Given the description of an element on the screen output the (x, y) to click on. 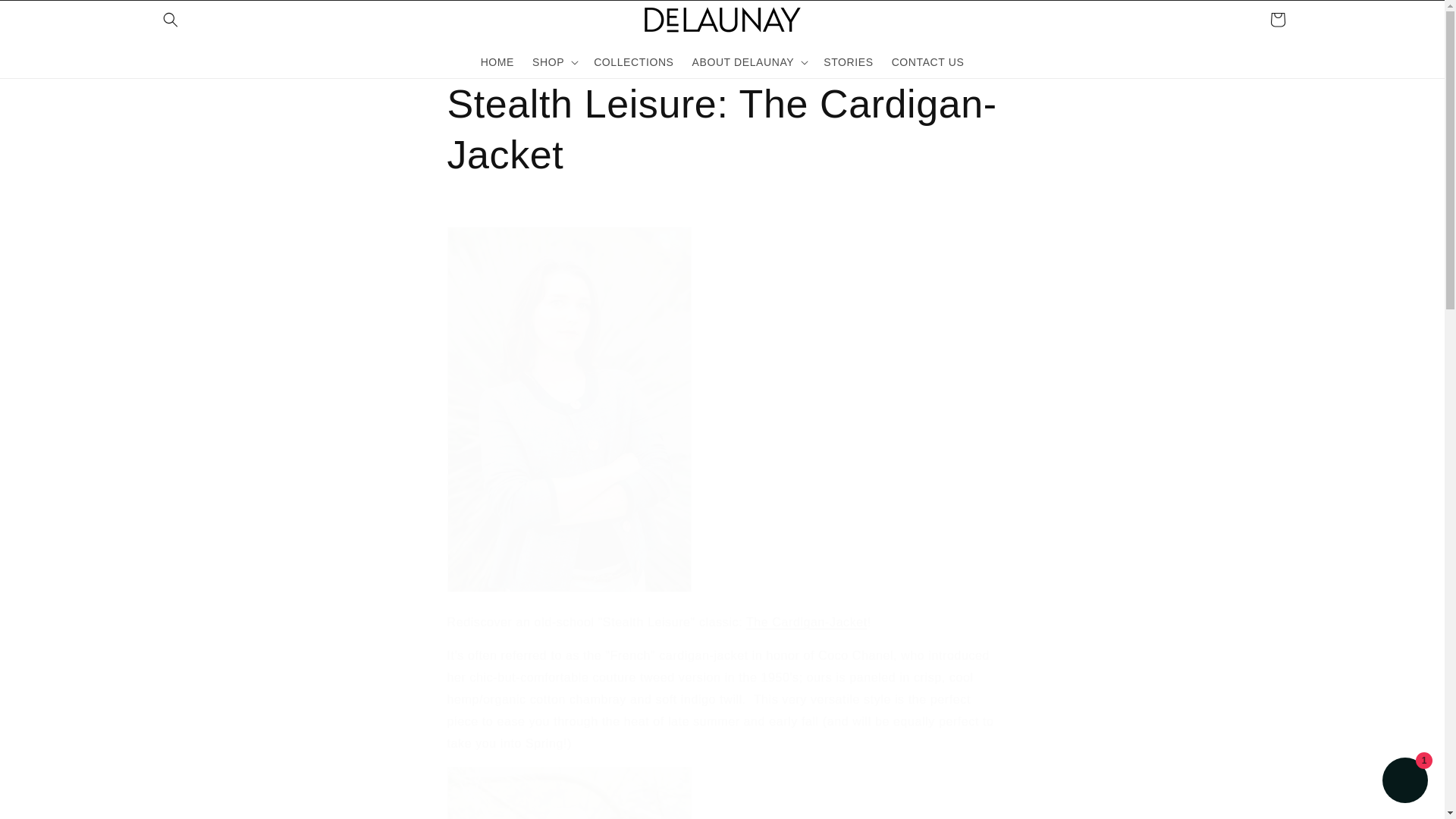
Skip to content (45, 17)
STORIES (847, 60)
HOME (496, 60)
Stealth Leisure: The Cardigan-Jacket (721, 129)
Shopify online store chat (1404, 781)
COLLECTIONS (633, 60)
CONTACT US (928, 60)
